Given the description of an element on the screen output the (x, y) to click on. 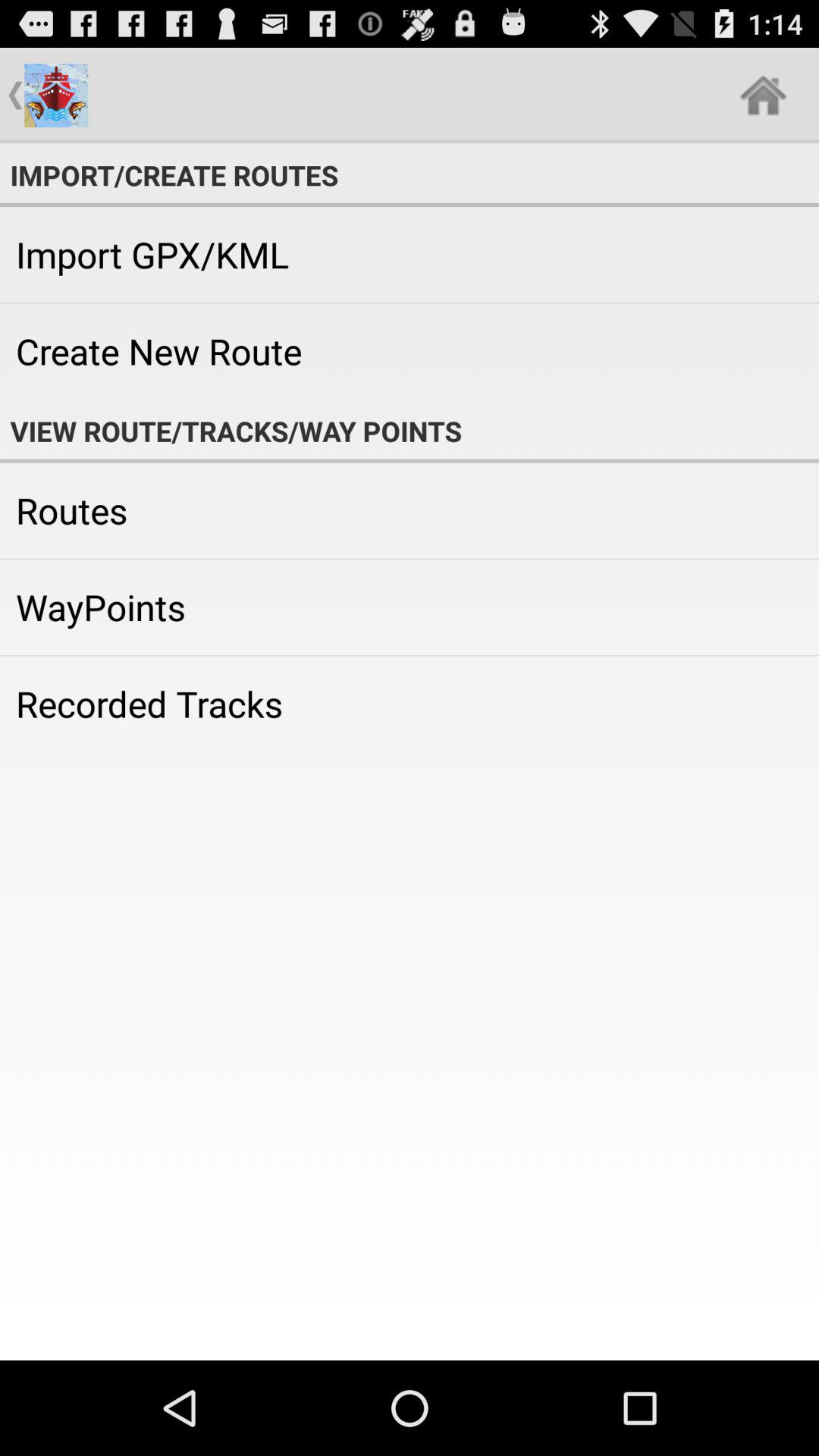
choose the recorded tracks icon (409, 703)
